Given the description of an element on the screen output the (x, y) to click on. 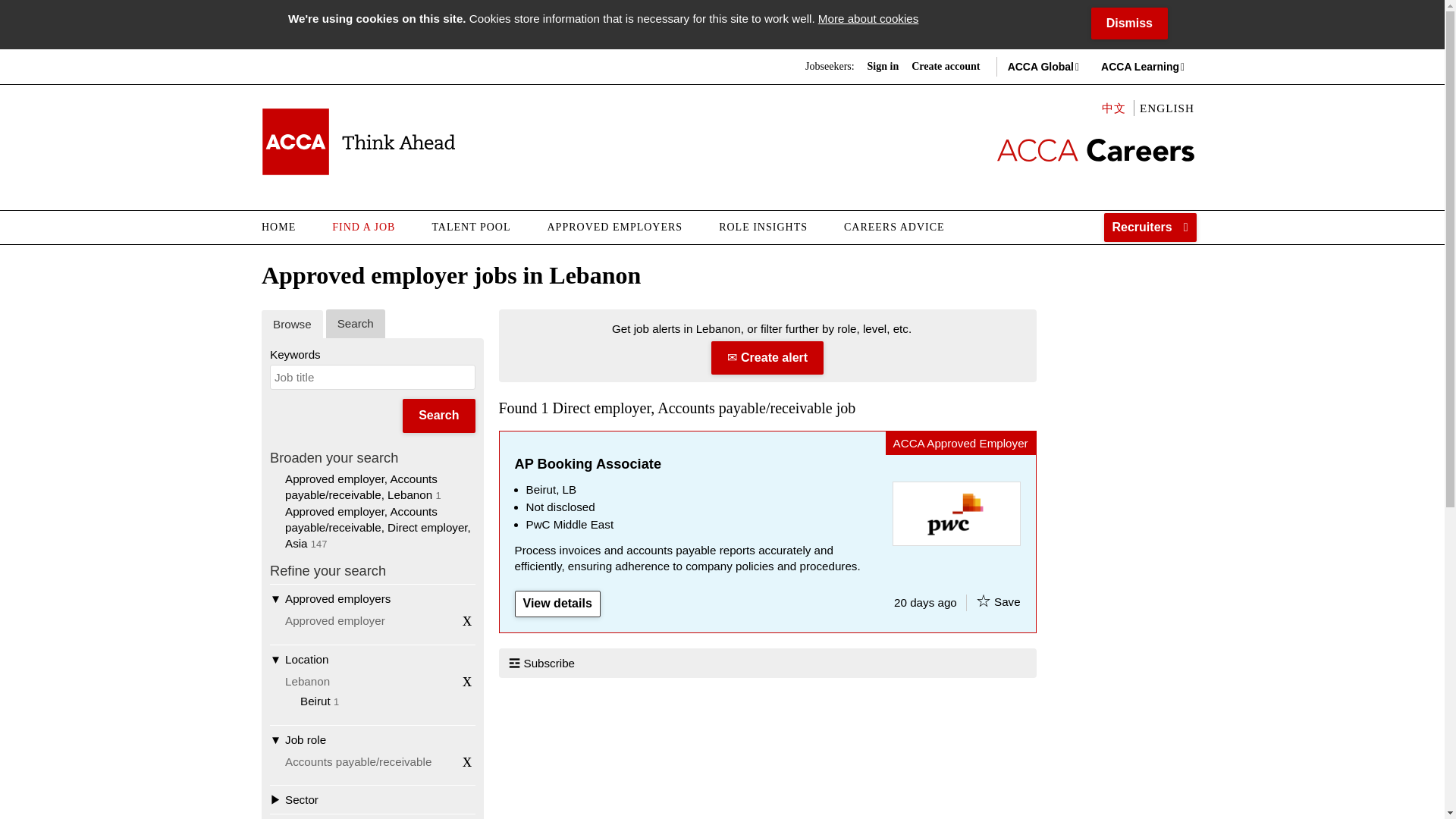
Search (438, 415)
Location (372, 658)
Search (438, 415)
Recruiters (1149, 226)
ACCA Global (1040, 67)
HOME (288, 227)
Add to shortlist (983, 600)
APPROVED EMPLOYERS (615, 227)
ACCA Careers (358, 141)
Create account (944, 66)
Remove selection (467, 760)
FIND A JOB (363, 227)
Remove selection (467, 619)
Beirut (314, 700)
Remove selection (467, 680)
